Given the description of an element on the screen output the (x, y) to click on. 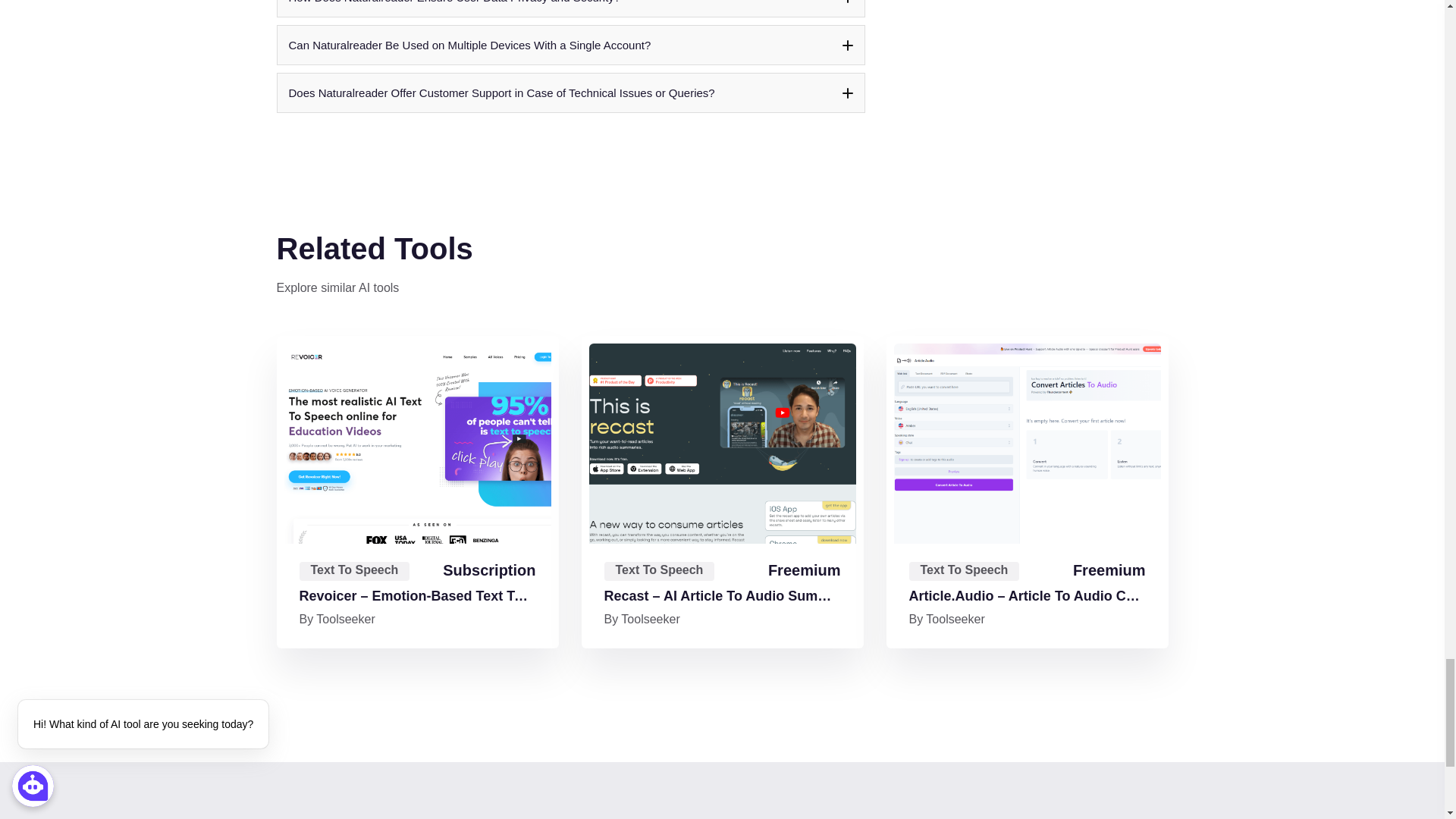
Text To Speech (353, 570)
